Given the description of an element on the screen output the (x, y) to click on. 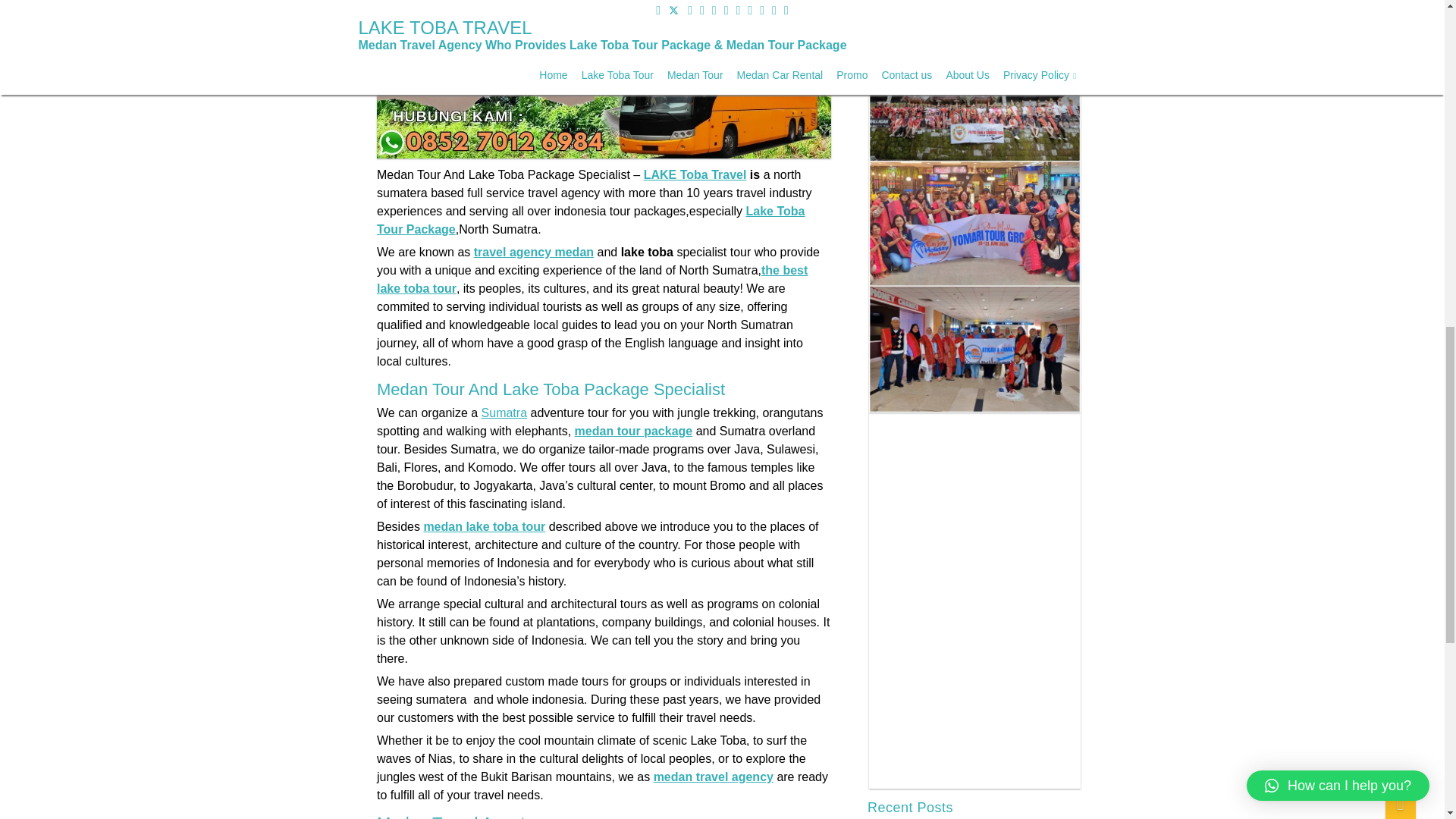
Sumatra (502, 412)
the best lake toba tour (590, 278)
medan tour package (633, 431)
medan lake toba tour (483, 526)
medan travel agency (712, 776)
LAKE Toba Travel (694, 174)
travel agency medan (532, 251)
Lake Toba Tour Package (589, 219)
